Given the description of an element on the screen output the (x, y) to click on. 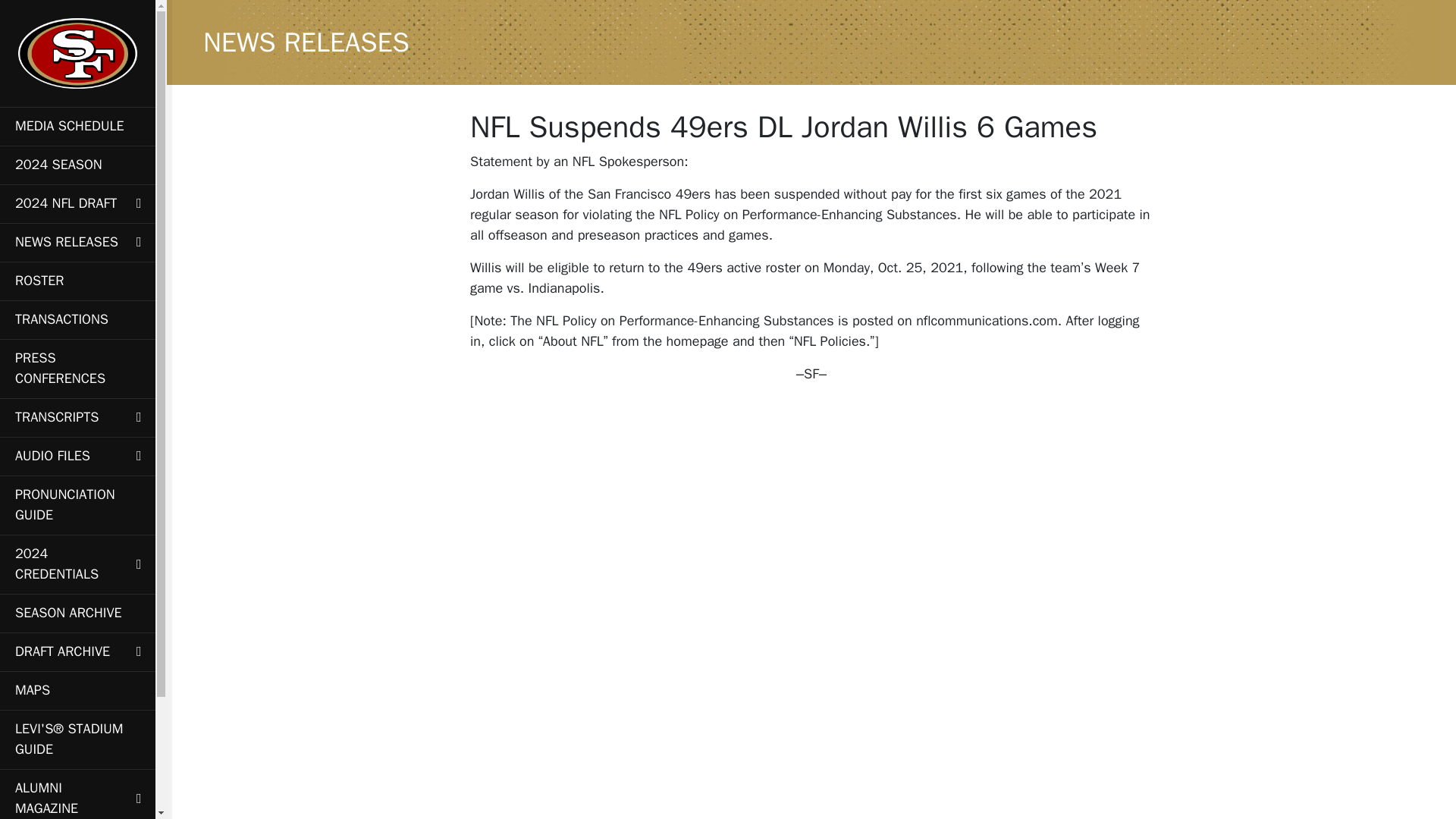
PRESS CONFERENCES (77, 368)
TRANSCRIPTS (77, 417)
2024 CREDENTIALS (77, 563)
PRONUNCIATION GUIDE (77, 504)
2024 SEASON (77, 164)
MEDIA SCHEDULE (77, 126)
NEWS RELEASES (77, 241)
2024 NFL DRAFT (77, 203)
AUDIO FILES (77, 455)
TRANSACTIONS (77, 319)
